Given the description of an element on the screen output the (x, y) to click on. 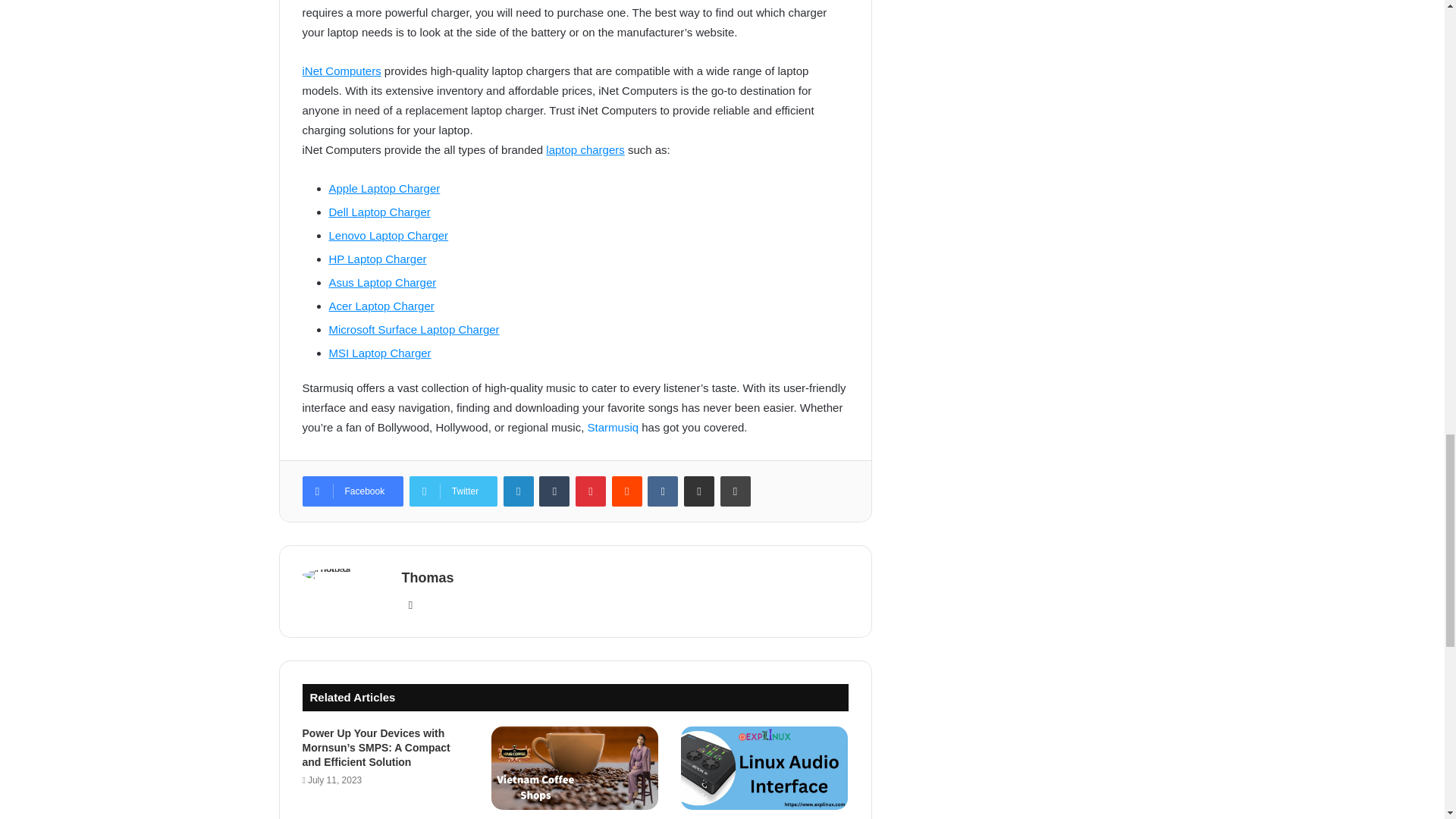
Tumblr (553, 490)
Print (735, 490)
Pinterest (590, 490)
Print (735, 490)
VKontakte (662, 490)
Pinterest (590, 490)
iNet Computers (340, 70)
Dell Laptop Charger (379, 211)
Tumblr (553, 490)
Acer Laptop Charger (381, 305)
